Given the description of an element on the screen output the (x, y) to click on. 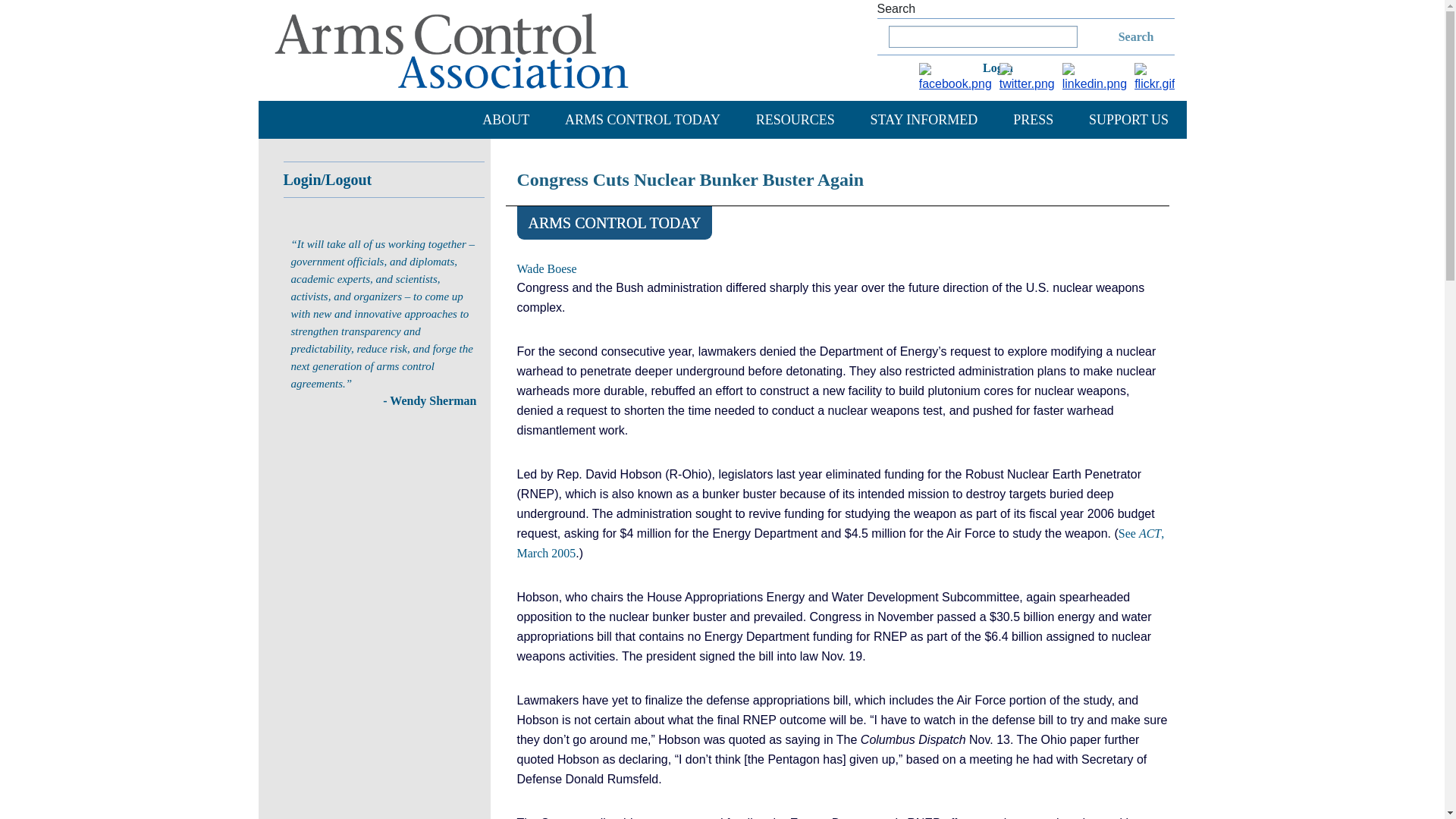
RESOURCES (794, 119)
STAY INFORMED (923, 119)
Log in (1004, 65)
ABOUT (505, 119)
Search (1117, 36)
ARMS CONTROL TODAY (642, 119)
Home (451, 50)
Enter the terms you wish to search for. (982, 36)
